Given the description of an element on the screen output the (x, y) to click on. 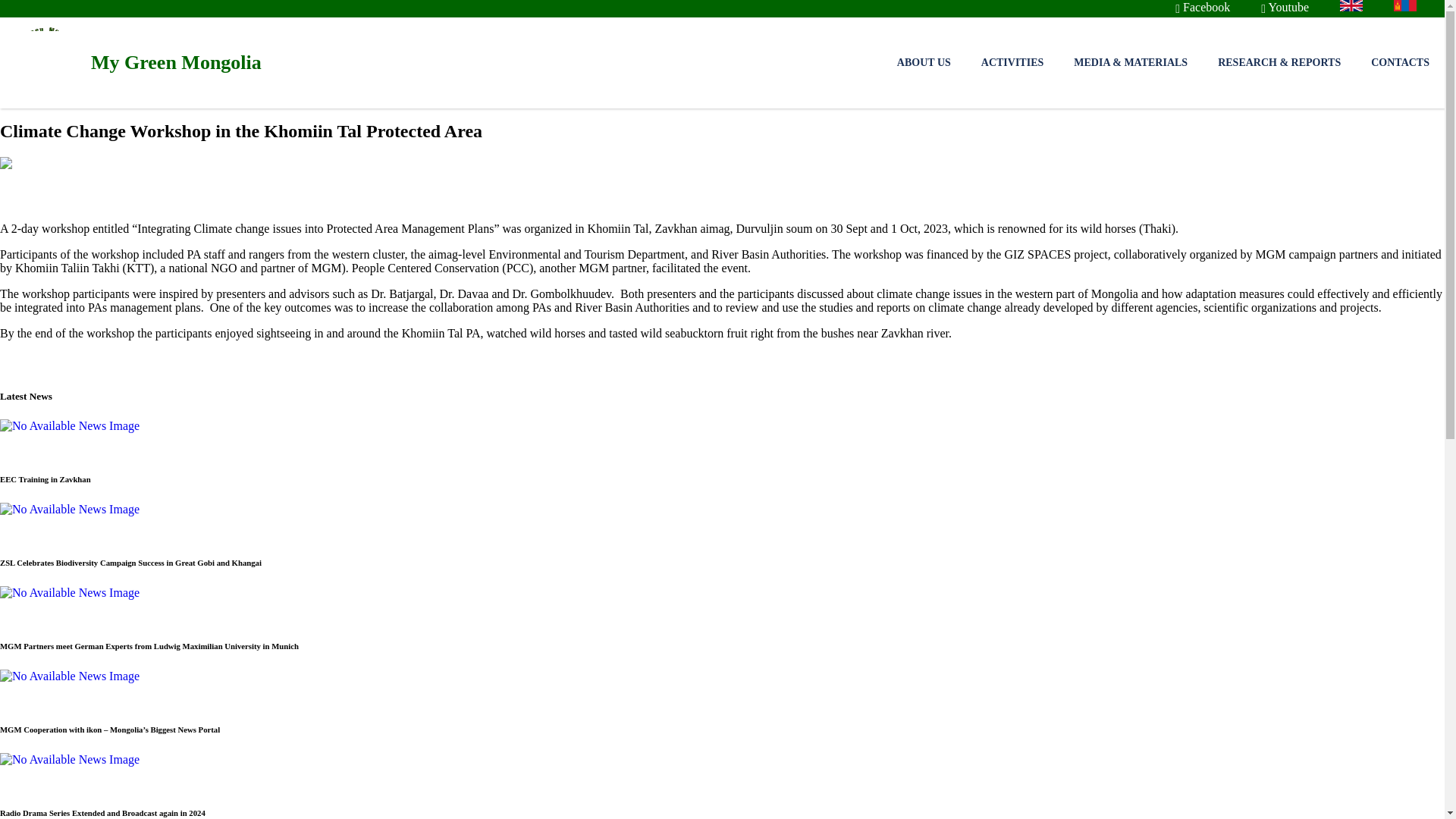
ACTIVITIES (1012, 62)
Facebook (1215, 6)
Youtube (1298, 6)
My Green Mongolia (131, 62)
My Green Mongolia (131, 62)
ABOUT US (924, 62)
